Given the description of an element on the screen output the (x, y) to click on. 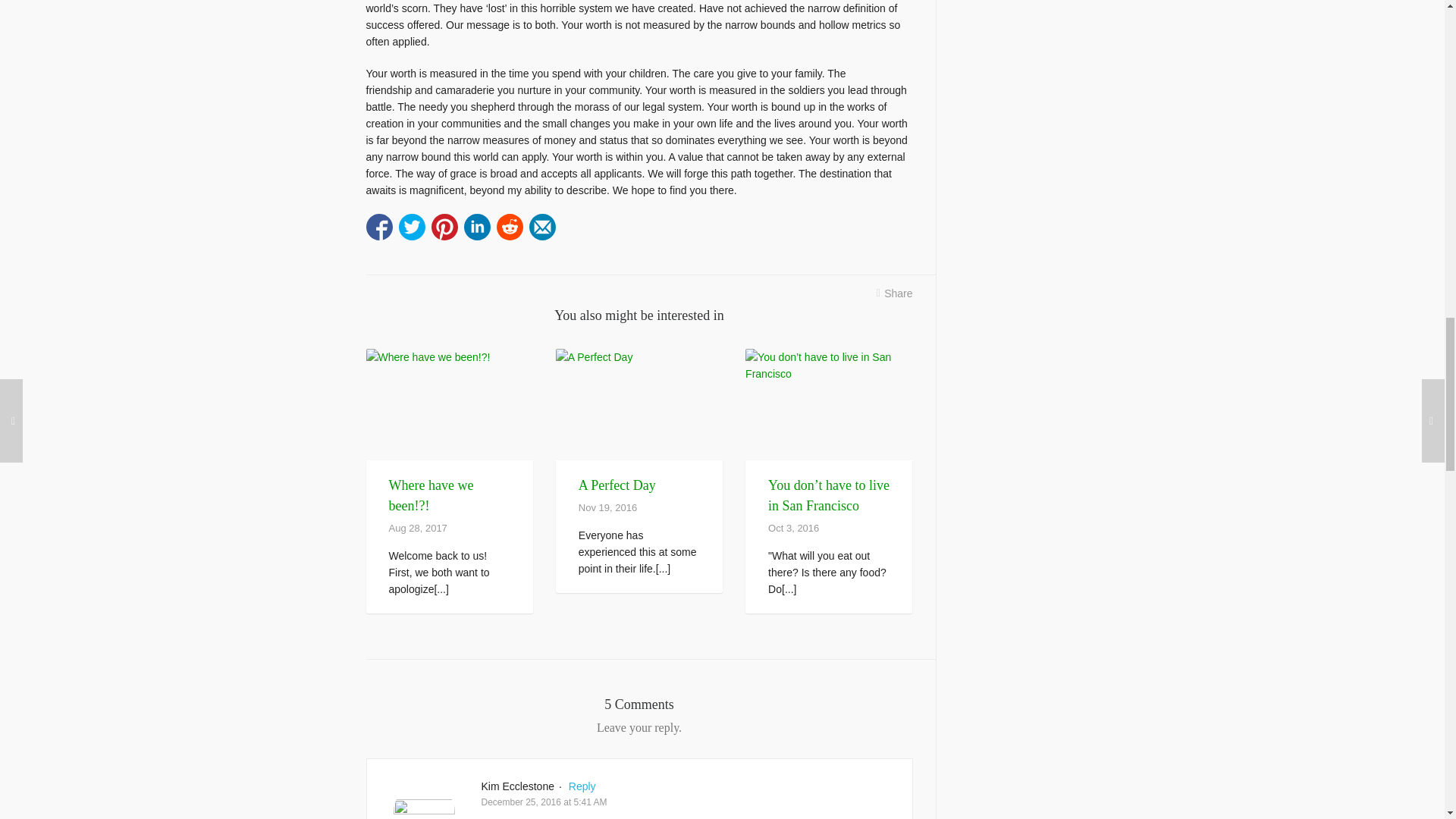
Share on Reddit (509, 226)
Share on Linkedin (477, 226)
Share on Pinterest (443, 226)
Send by email (542, 226)
Share on Facebook (378, 226)
Tweet (411, 226)
